Given the description of an element on the screen output the (x, y) to click on. 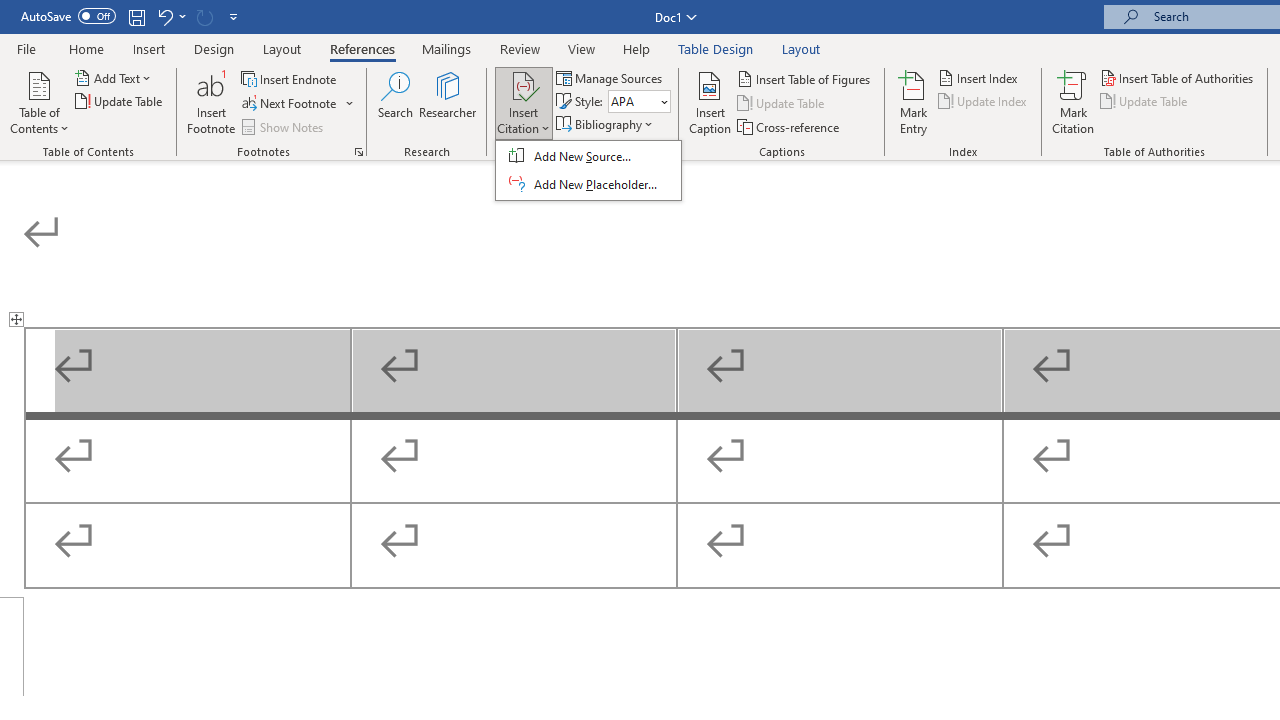
Insert Index... (979, 78)
Style (632, 101)
Researcher (447, 102)
Insert Endnote (290, 78)
